Given the description of an element on the screen output the (x, y) to click on. 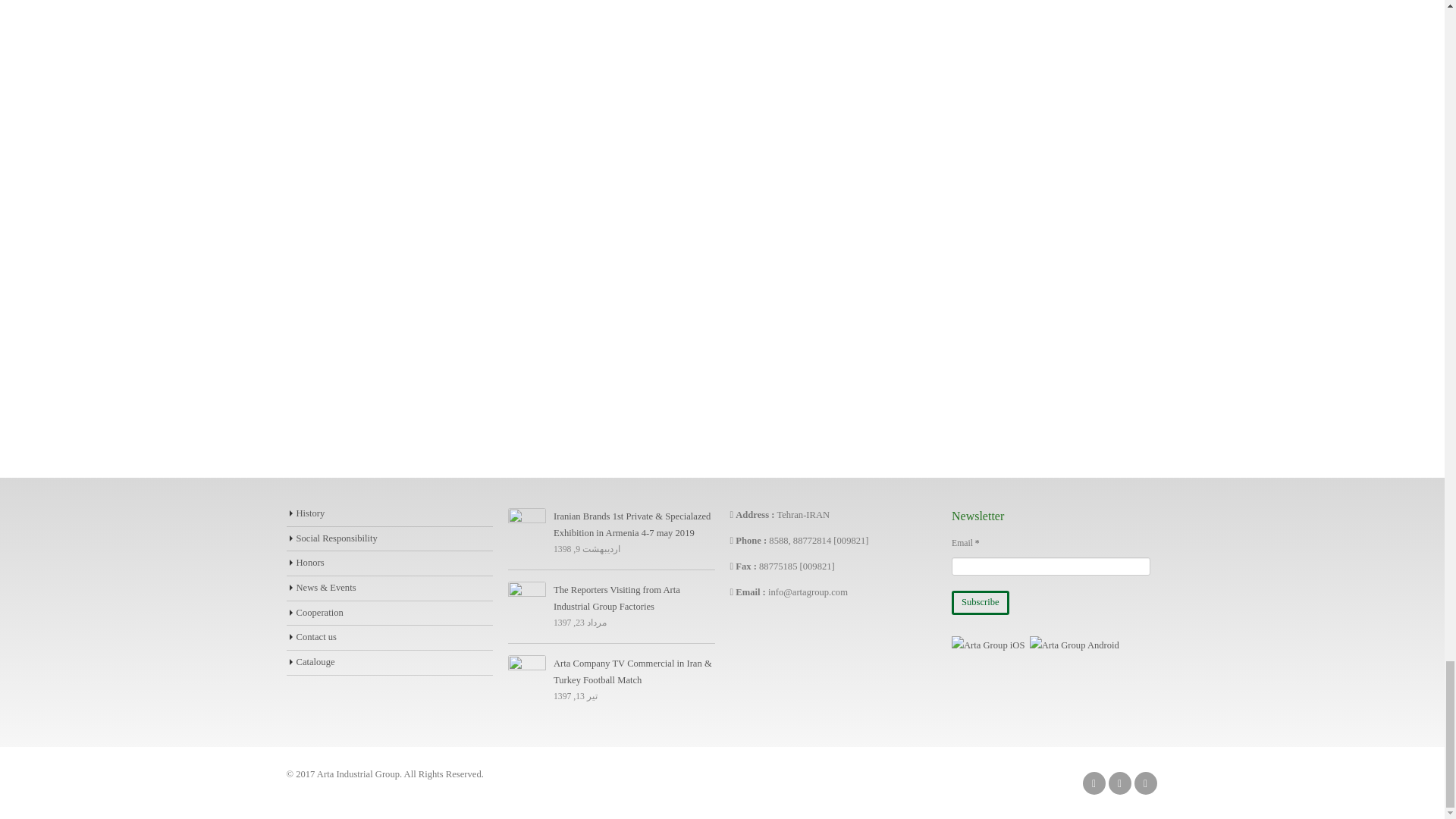
Subscribe (980, 602)
